Given the description of an element on the screen output the (x, y) to click on. 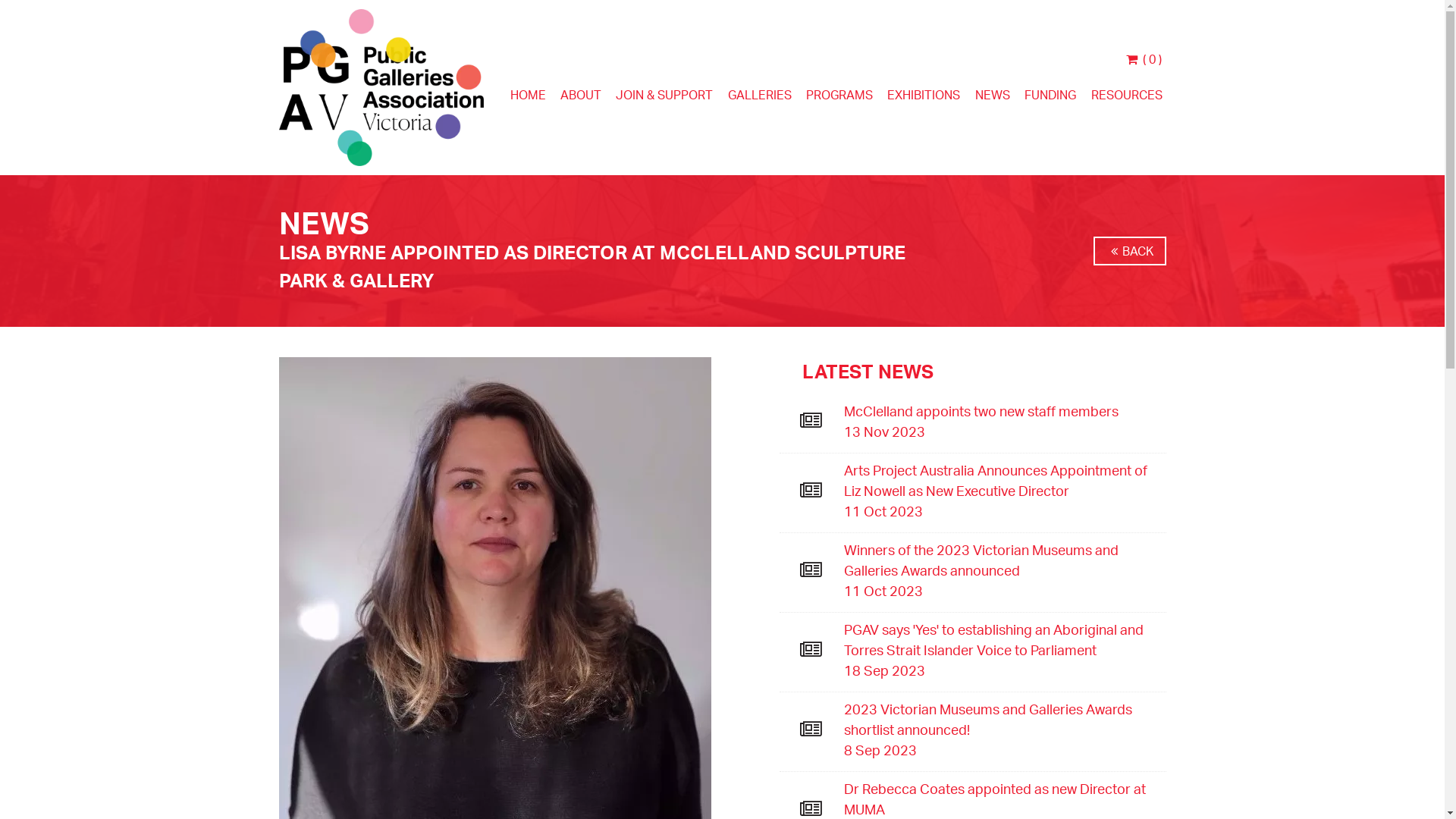
ABOUT Element type: text (580, 98)
FUNDING Element type: text (1049, 98)
RESOURCES Element type: text (1126, 98)
8 Sep 2023 Element type: text (1004, 750)
GALLERIES Element type: text (759, 98)
18 Sep 2023 Element type: text (1004, 670)
NEWS Element type: text (992, 98)
HOME Element type: text (527, 98)
11 Oct 2023 Element type: text (1004, 511)
PROGRAMS Element type: text (839, 98)
11 Oct 2023 Element type: text (1004, 590)
BACK Element type: text (1129, 250)
EXHIBITIONS Element type: text (923, 98)
McClelland appoints two new staff members Element type: text (1004, 411)
JOIN & SUPPORT Element type: text (663, 98)
( 0 ) Element type: text (1144, 59)
13 Nov 2023 Element type: text (1004, 431)
